Given the description of an element on the screen output the (x, y) to click on. 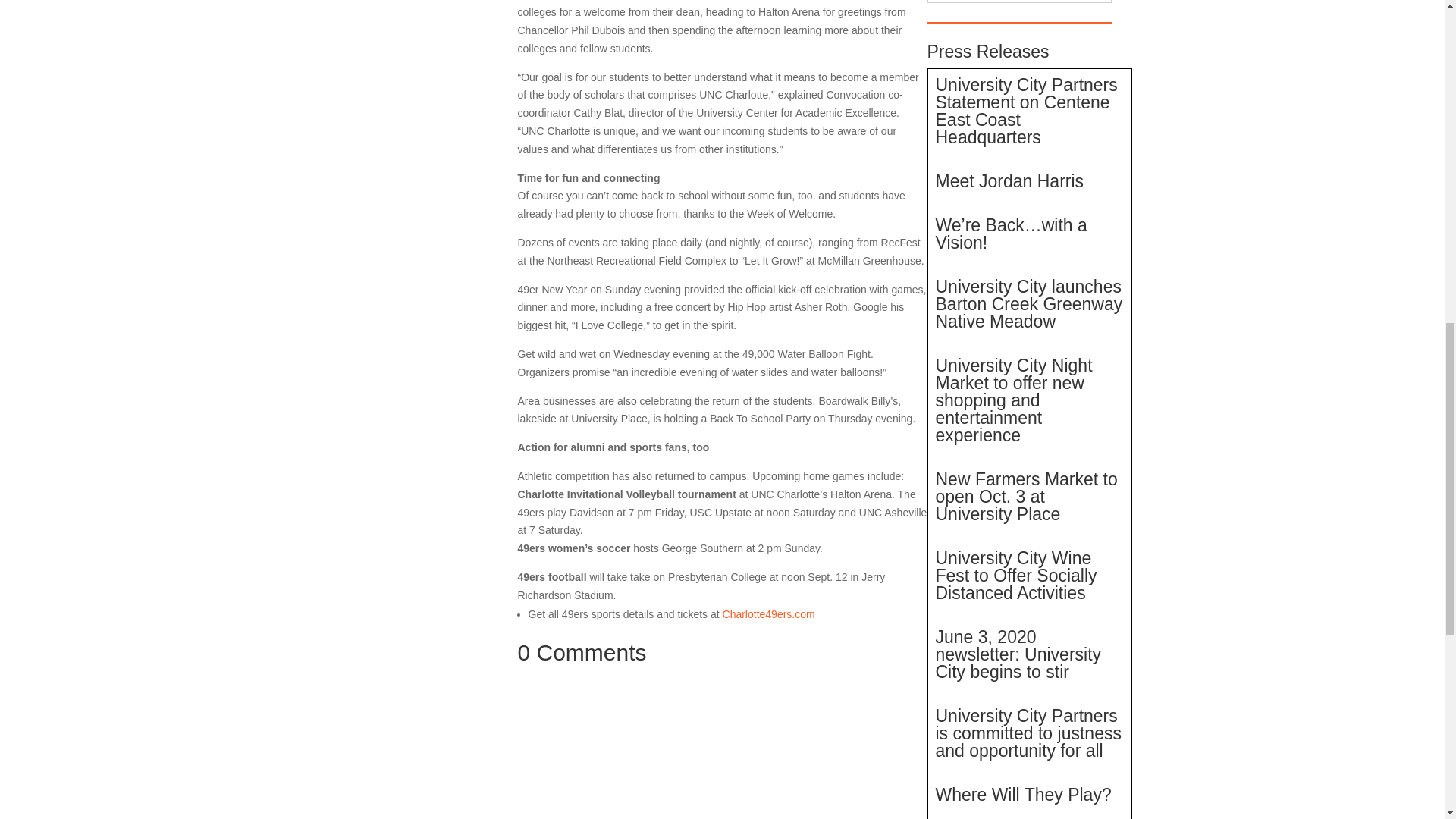
Charlotte49ers.com (768, 613)
University City launches Barton Creek Greenway Native Meadow (1029, 303)
Meet Jordan Harris (1010, 180)
